Given the description of an element on the screen output the (x, y) to click on. 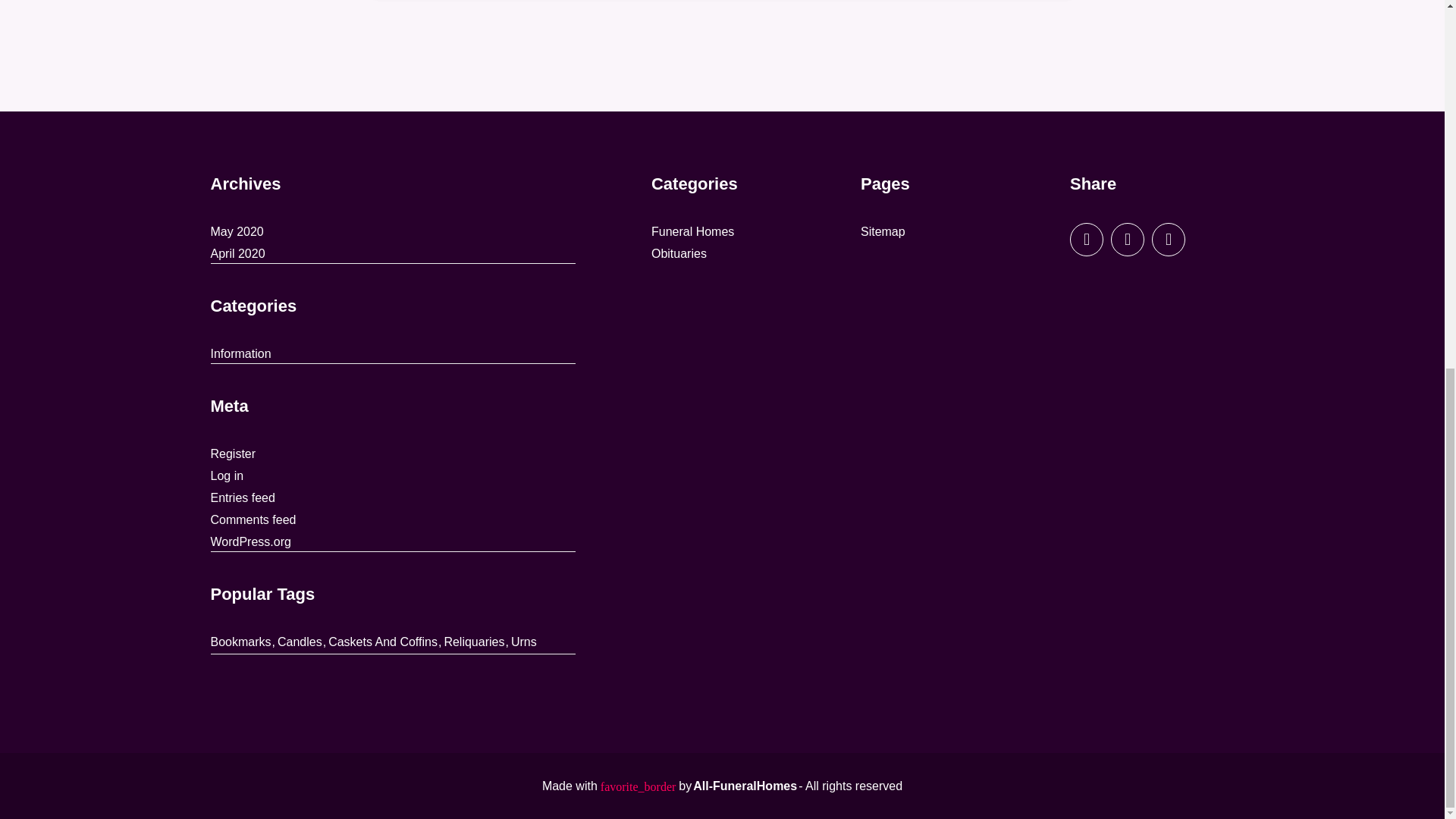
Information (240, 353)
Log in (227, 475)
Register (233, 454)
Funeral Homes (691, 231)
Urns (524, 642)
April 2020 (237, 253)
Bookmarks (240, 642)
Comments feed (254, 520)
May 2020 (237, 231)
WordPress.org (251, 542)
